Given the description of an element on the screen output the (x, y) to click on. 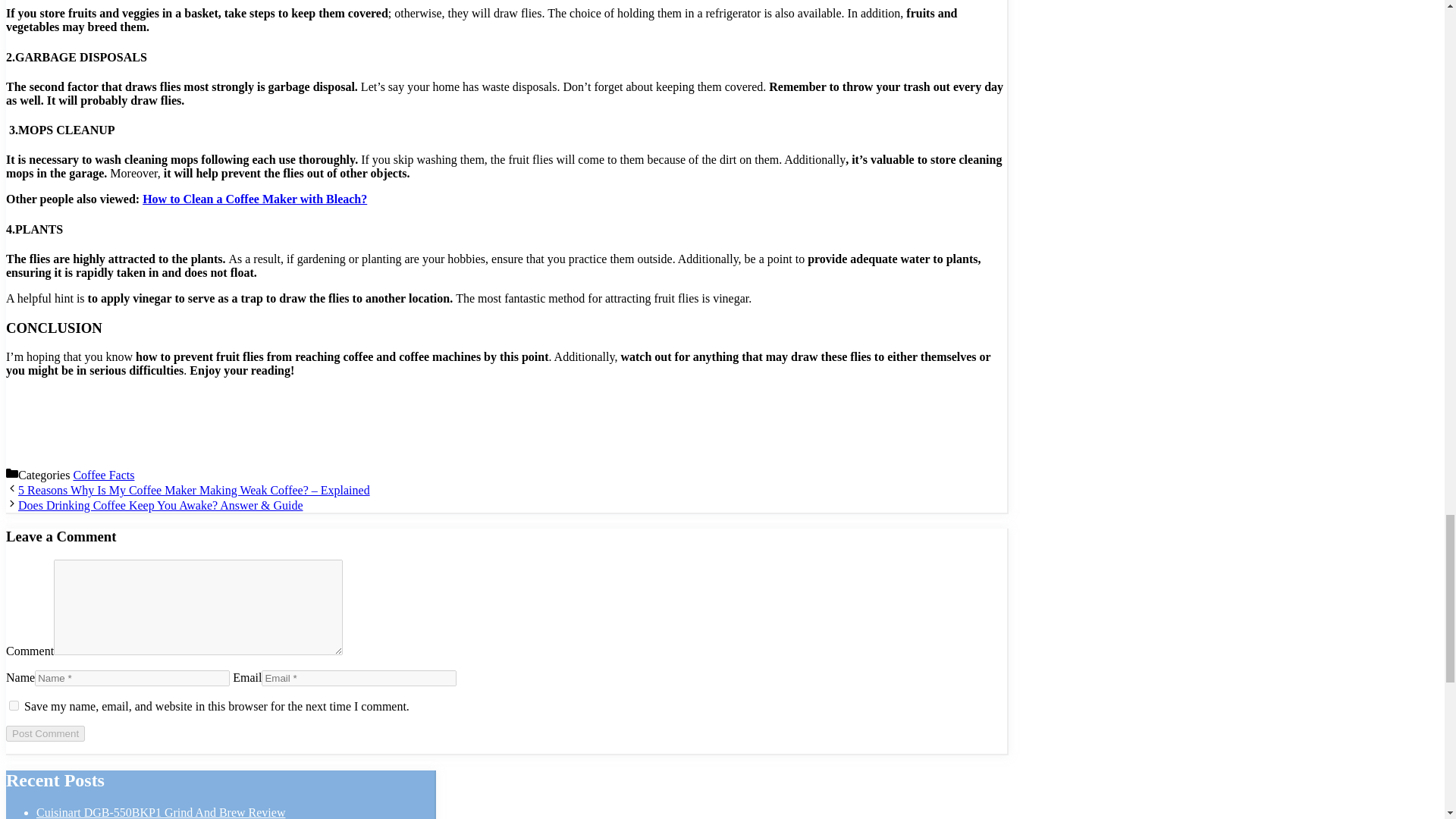
yes (13, 705)
Post Comment (44, 733)
